Given the description of an element on the screen output the (x, y) to click on. 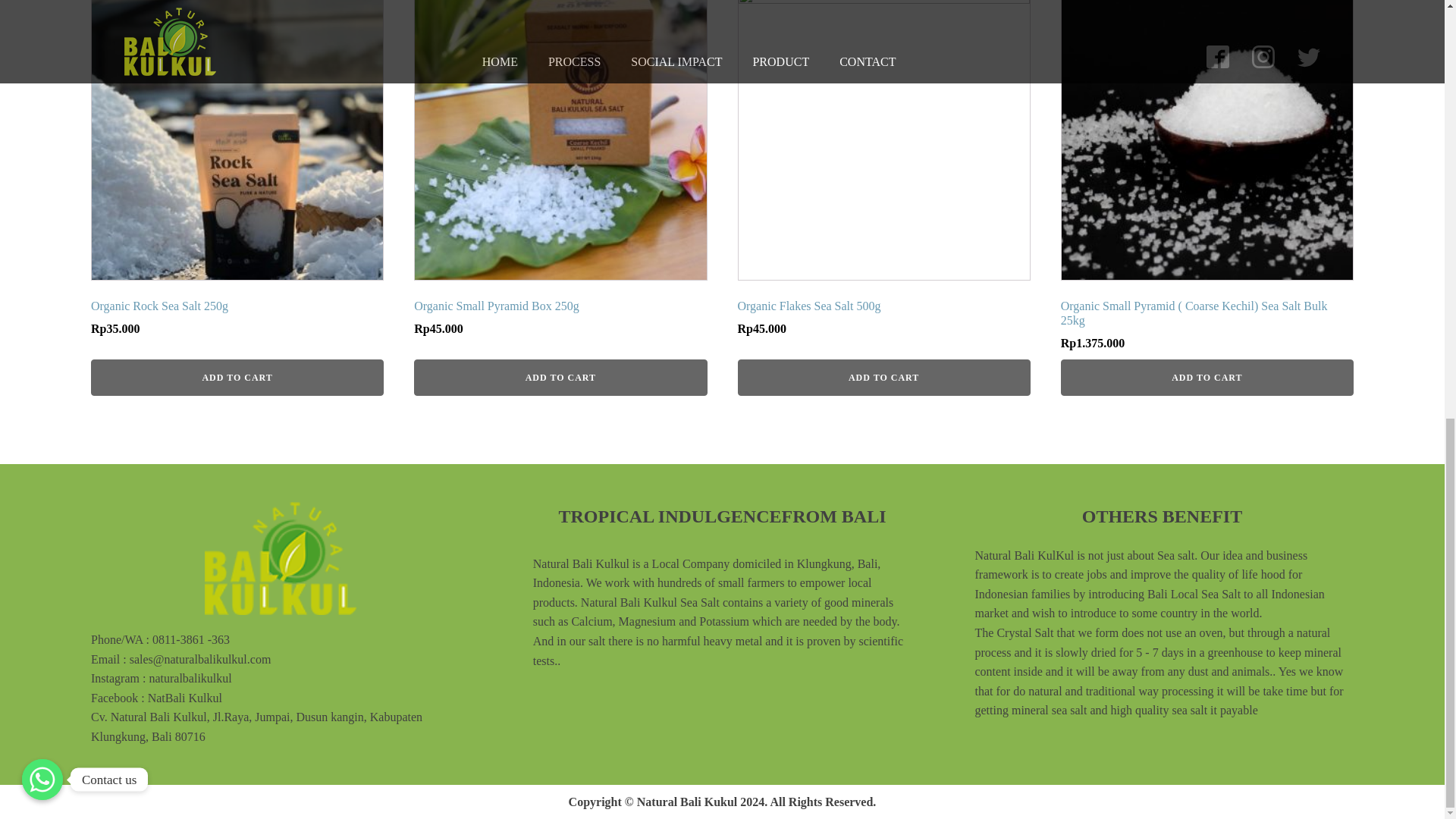
ADD TO CART (1207, 377)
ADD TO CART (237, 172)
ADD TO CART (237, 377)
ADD TO CART (559, 377)
